Given the description of an element on the screen output the (x, y) to click on. 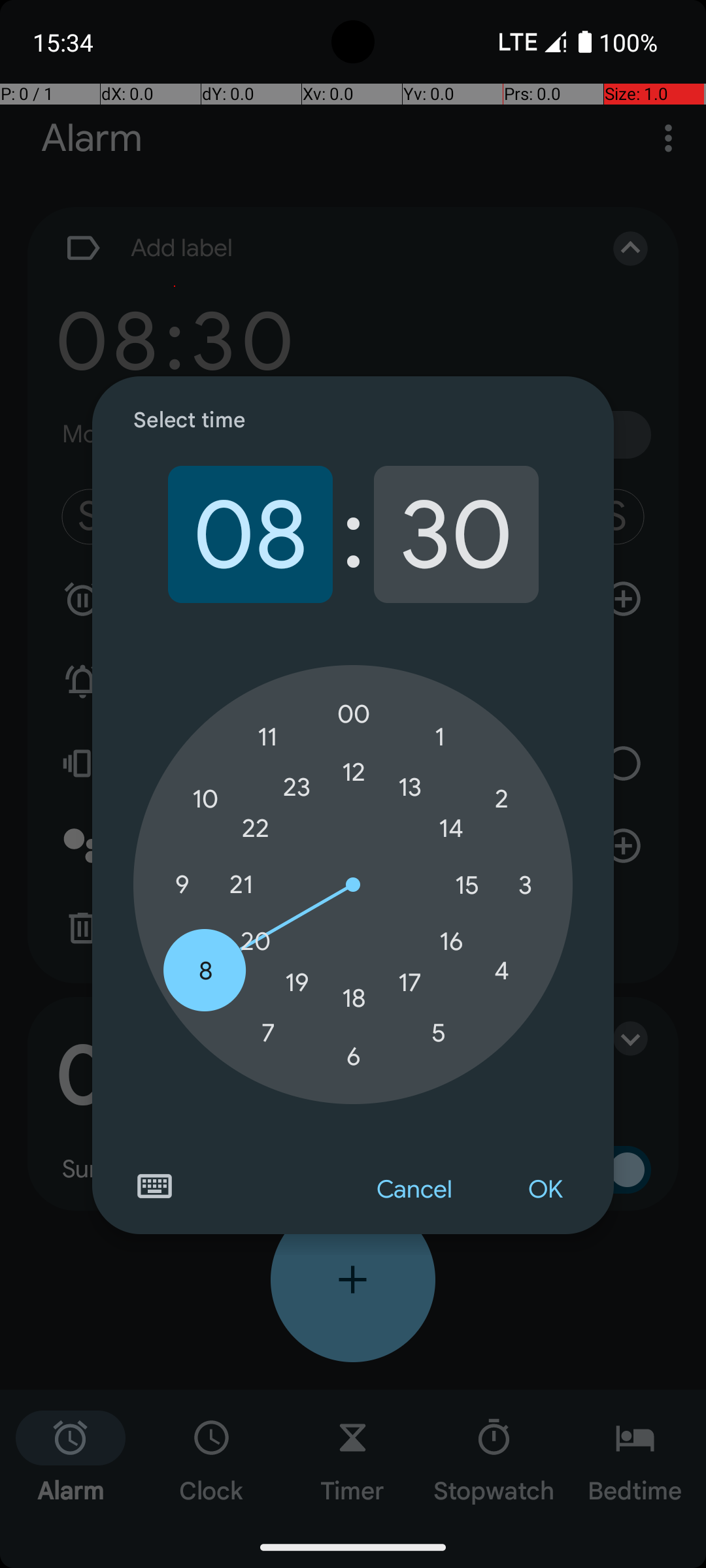
08 Element type: android.view.View (250, 534)
